Given the description of an element on the screen output the (x, y) to click on. 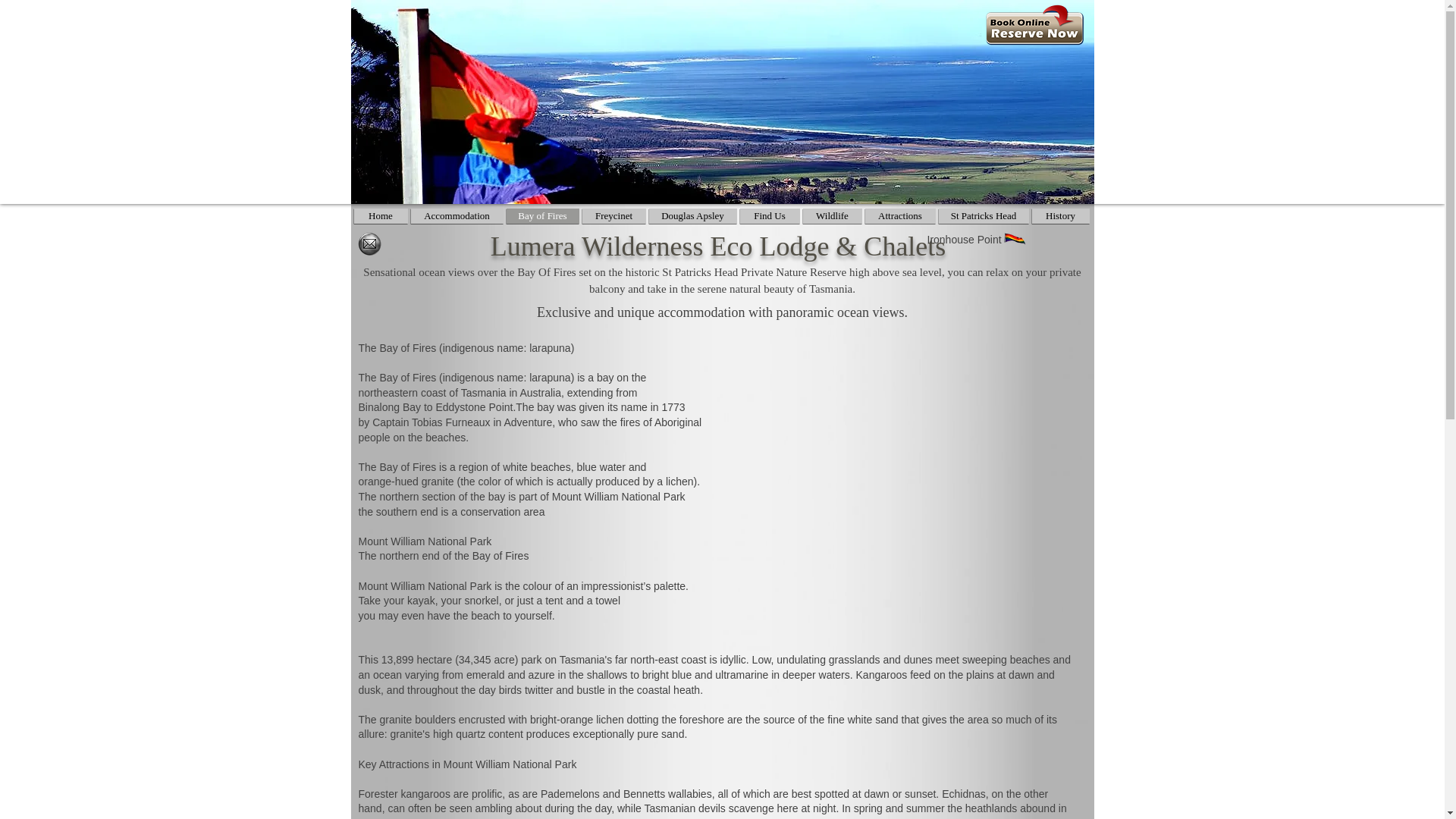
Accommodation (456, 215)
Wildlife (831, 215)
Freycinet (614, 215)
Douglas Apsley (692, 215)
Bay of Fires (542, 215)
History (1059, 215)
Attractions (899, 215)
Find Us (769, 215)
Home (380, 215)
Gay and Lesbian owned and operated accommodation Tasmania. (1014, 240)
St Patricks Head (984, 215)
